Given the description of an element on the screen output the (x, y) to click on. 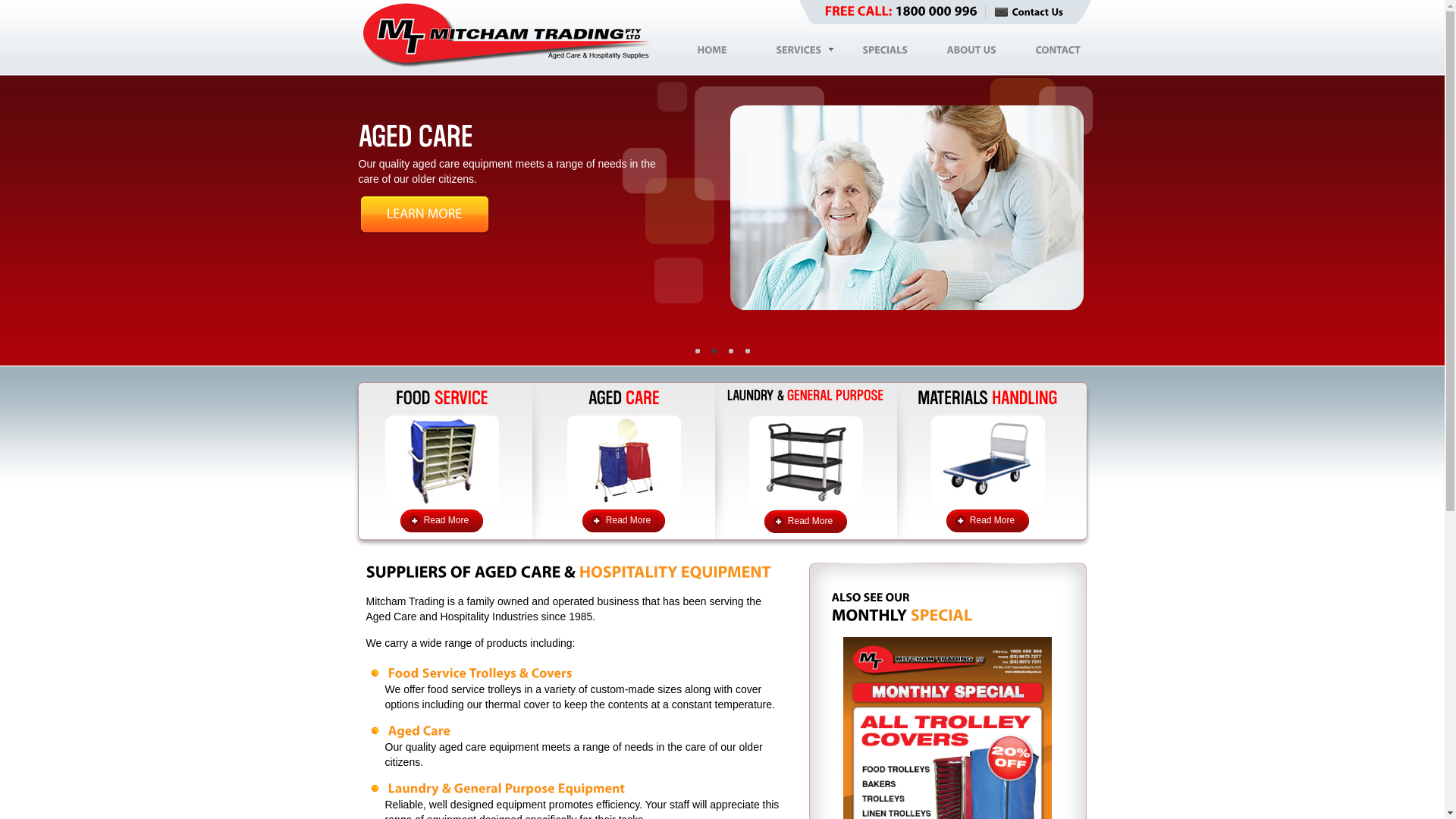
Read More Element type: text (805, 521)
0 Element type: text (696, 351)
3 Element type: text (746, 351)
2 Element type: text (729, 351)
Read More Element type: text (441, 520)
Read More Element type: text (987, 520)
1 Element type: text (713, 351)
Read More Element type: text (623, 520)
